Given the description of an element on the screen output the (x, y) to click on. 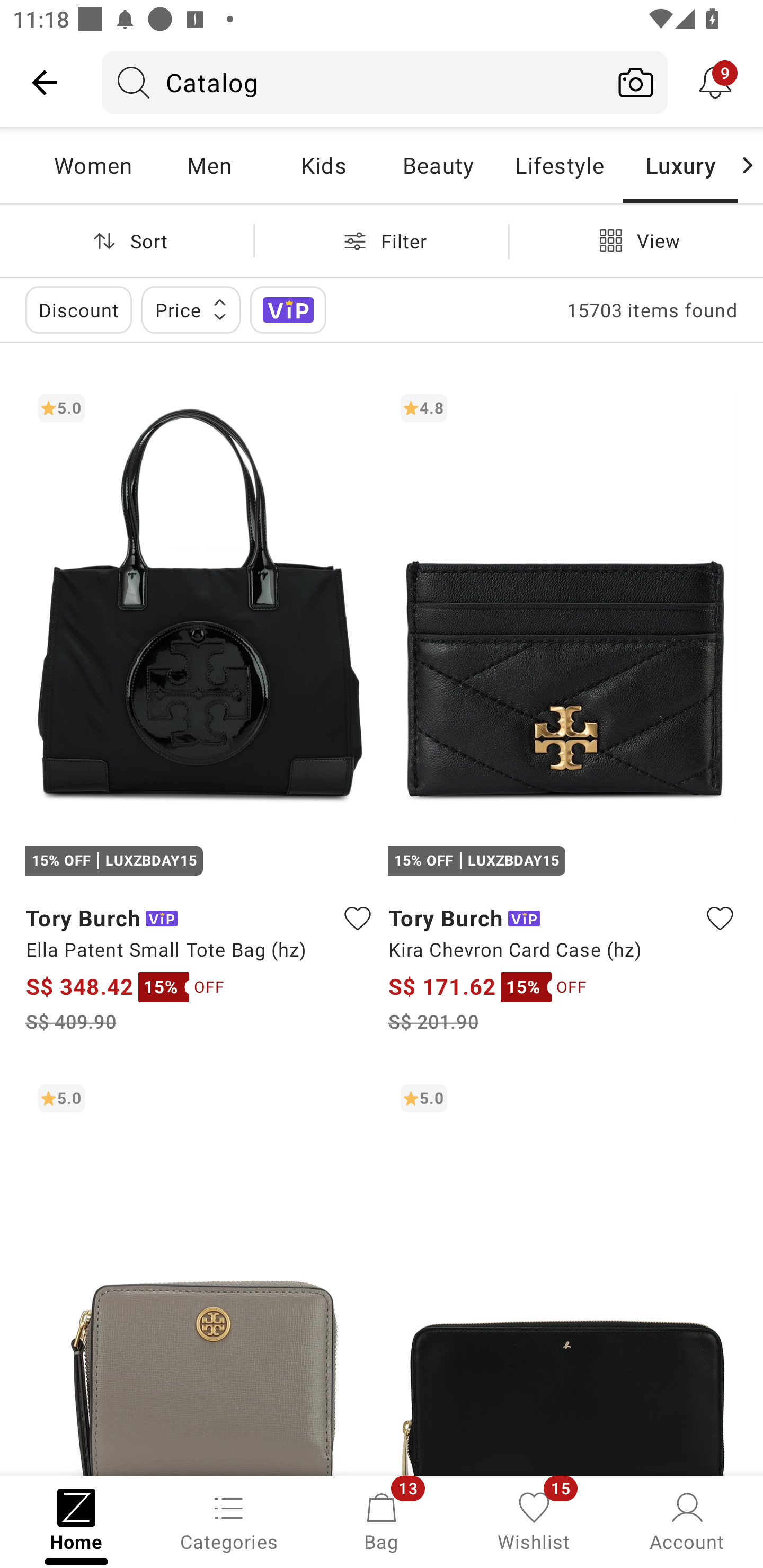
Navigate up (44, 82)
Catalog (352, 82)
Women (92, 165)
Men (208, 165)
Kids (323, 165)
Beauty (437, 165)
Lifestyle (559, 165)
Sort (126, 240)
Filter (381, 240)
View (636, 240)
Discount (78, 309)
Price (190, 309)
5.0 (200, 1272)
5.0 (562, 1272)
Categories (228, 1519)
Bag, 13 new notifications Bag (381, 1519)
Wishlist, 15 new notifications Wishlist (533, 1519)
Account (686, 1519)
